Given the description of an element on the screen output the (x, y) to click on. 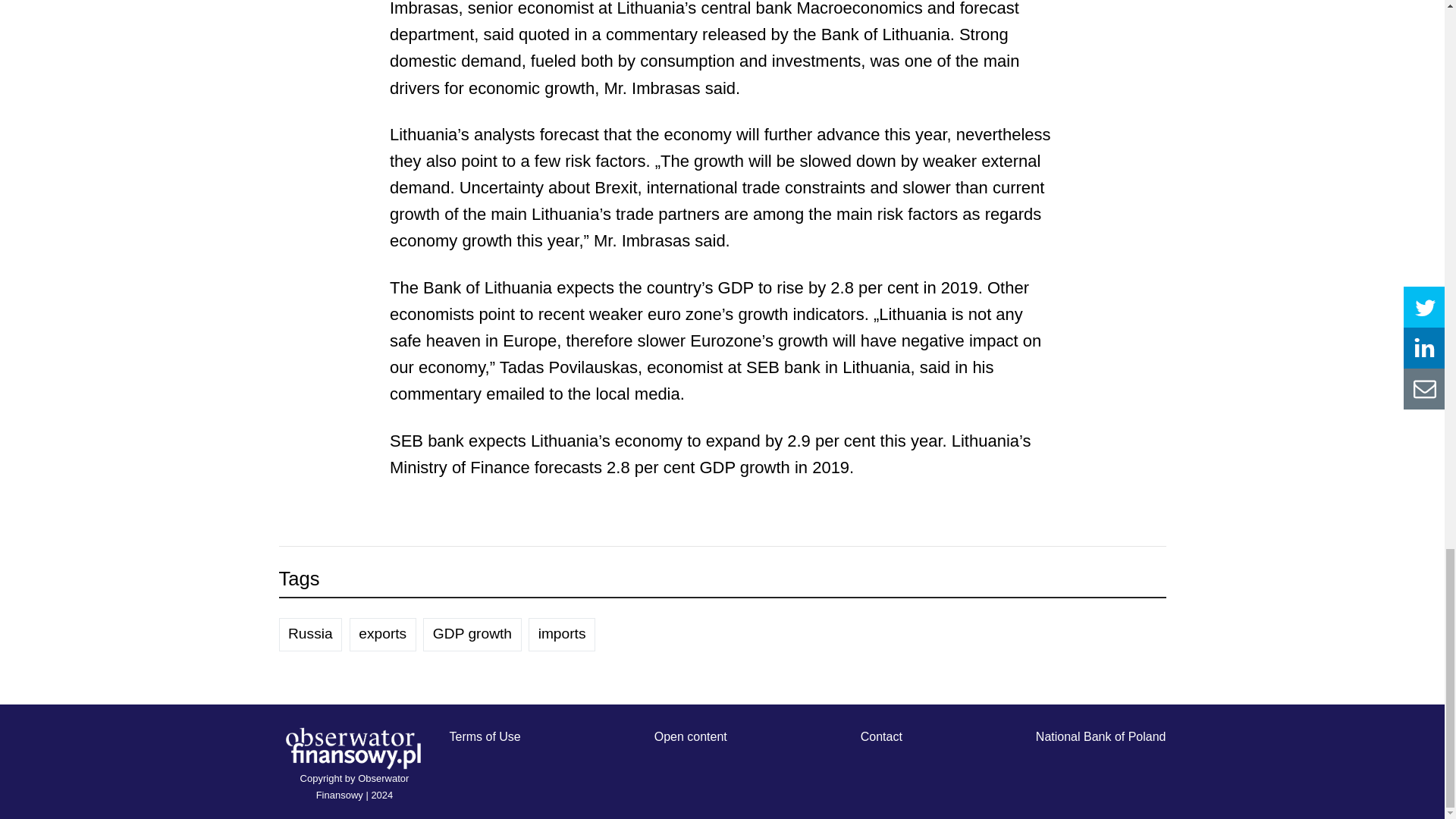
exports (382, 634)
Contact (881, 736)
Russia (310, 634)
Terms of Use (483, 736)
imports (561, 634)
National Bank of Poland (1100, 736)
Open content (689, 736)
GDP growth (472, 634)
